Given the description of an element on the screen output the (x, y) to click on. 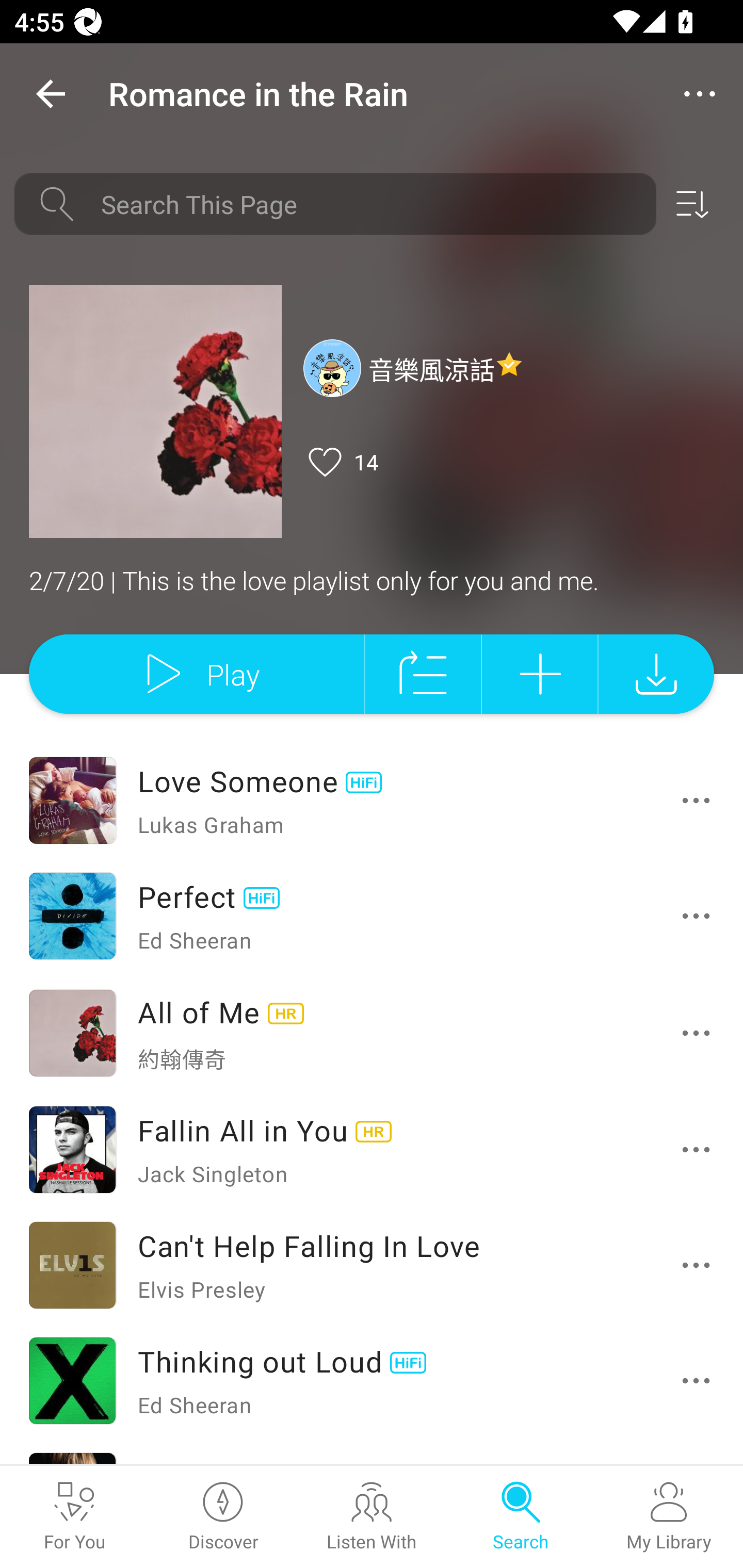
overflow (699, 93)
Search This Page (371, 204)
音樂風涼話 text_curator_name (413, 367)
14 button_collection (340, 462)
Play (196, 674)
add to queue (422, 674)
加入至歌單 (539, 674)
下載歌曲至手機 (656, 674)
Love Someone Lukas Graham 更多操作選項 (371, 800)
更多操作選項 (699, 800)
Perfect Ed Sheeran 更多操作選項 (371, 915)
更多操作選項 (699, 915)
All of Me 約翰傳奇　 更多操作選項 (371, 1032)
更多操作選項 (699, 1033)
Fallin All in You Jack Singleton 更多操作選項 (371, 1149)
更多操作選項 (699, 1149)
Can't Help Falling In Love Elvis Presley 更多操作選項 (371, 1265)
更多操作選項 (699, 1265)
Thinking out Loud Ed Sheeran 更多操作選項 (371, 1380)
更多操作選項 (699, 1380)
For You (74, 1517)
Discover (222, 1517)
Listen With (371, 1517)
Search (519, 1517)
My Library (668, 1517)
